Given the description of an element on the screen output the (x, y) to click on. 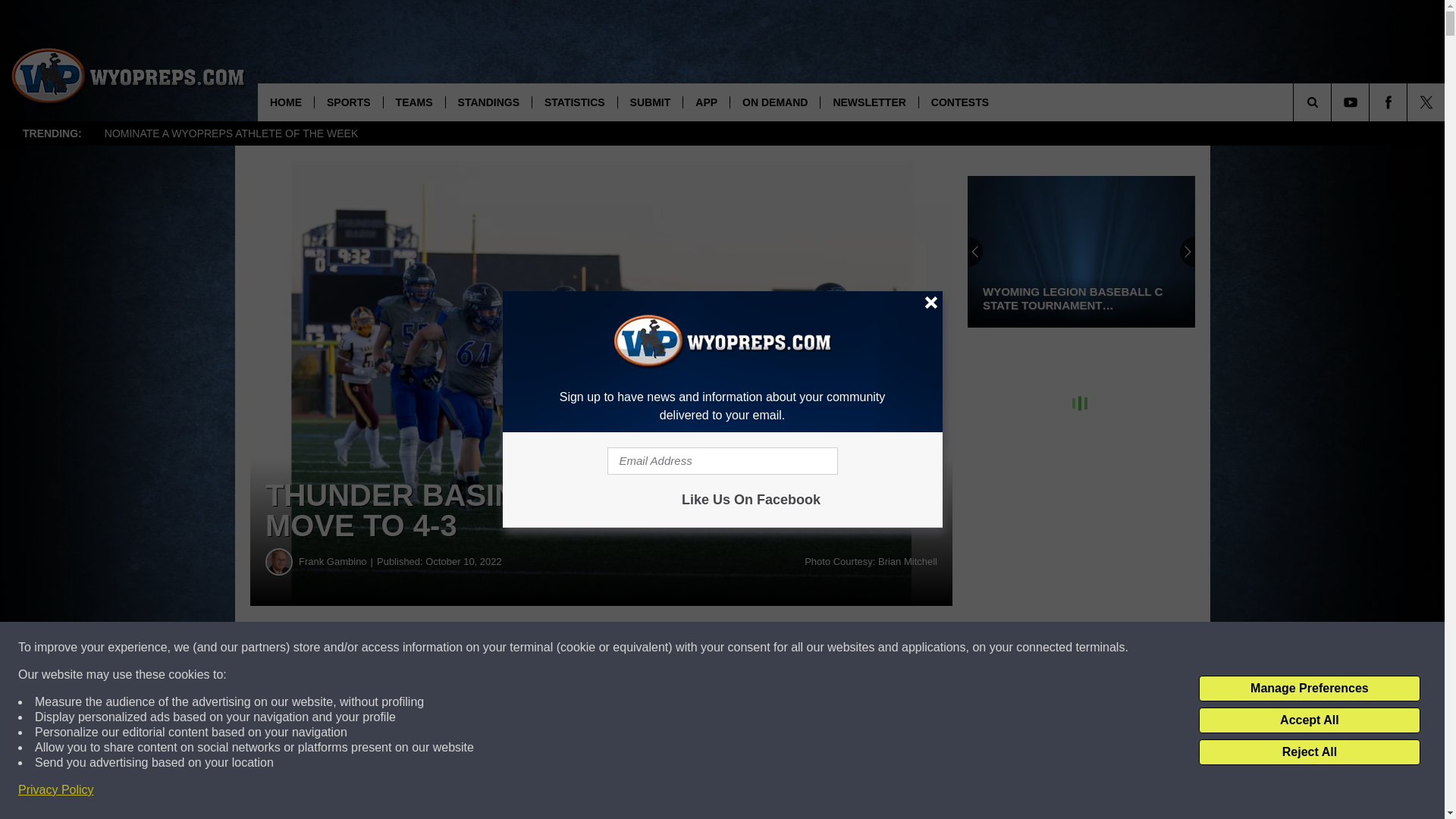
Manage Preferences (1309, 688)
Email Address (722, 461)
HOME (285, 102)
Reject All (1309, 751)
Share on Twitter (741, 647)
SEARCH (1333, 102)
TRENDING: (52, 133)
Privacy Policy (55, 789)
SPORTS (348, 102)
Share on Facebook (460, 647)
NOMINATE A WYOPREPS ATHLETE OF THE WEEK (231, 133)
TEAMS (413, 102)
SEARCH (1333, 102)
Accept All (1309, 720)
